Given the description of an element on the screen output the (x, y) to click on. 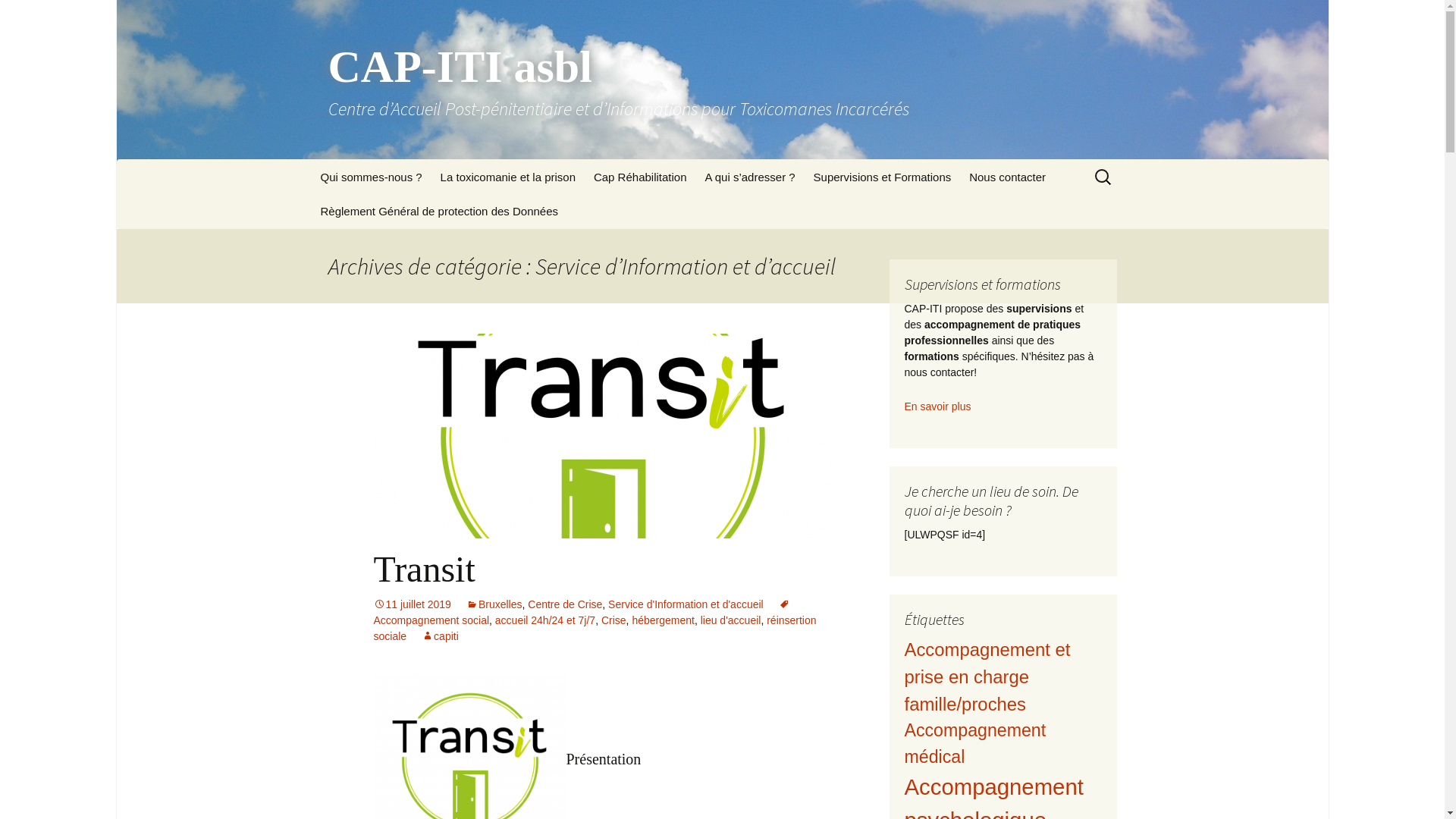
Nous proposons Element type: text (386, 211)
Bruxelles Element type: text (494, 604)
Rechercher Element type: text (18, 15)
Aller au contenu Element type: text (312, 159)
capiti Element type: text (439, 636)
En savoir plus Element type: text (936, 406)
Crise Element type: text (613, 620)
Transit Element type: text (423, 569)
11 juillet 2019 Element type: text (411, 604)
La toxicomanie et la prison Element type: text (508, 177)
Accompagnement social Element type: text (581, 612)
Qui sommes-nous ? Element type: text (370, 177)
Service d'Information et d'accueil Element type: text (685, 604)
Supervisions et Formations Element type: text (882, 177)
Centre de Crise Element type: text (564, 604)
Accompagnement et prise en charge famille/proches Element type: text (986, 676)
lieu d'accueil Element type: text (730, 620)
accueil 24h/24 et 7j/7 Element type: text (545, 620)
Nous contacter Element type: text (1007, 177)
Je cherche un lieu de soin. De quoi ai-je besoin ? Element type: text (771, 216)
